Given the description of an element on the screen output the (x, y) to click on. 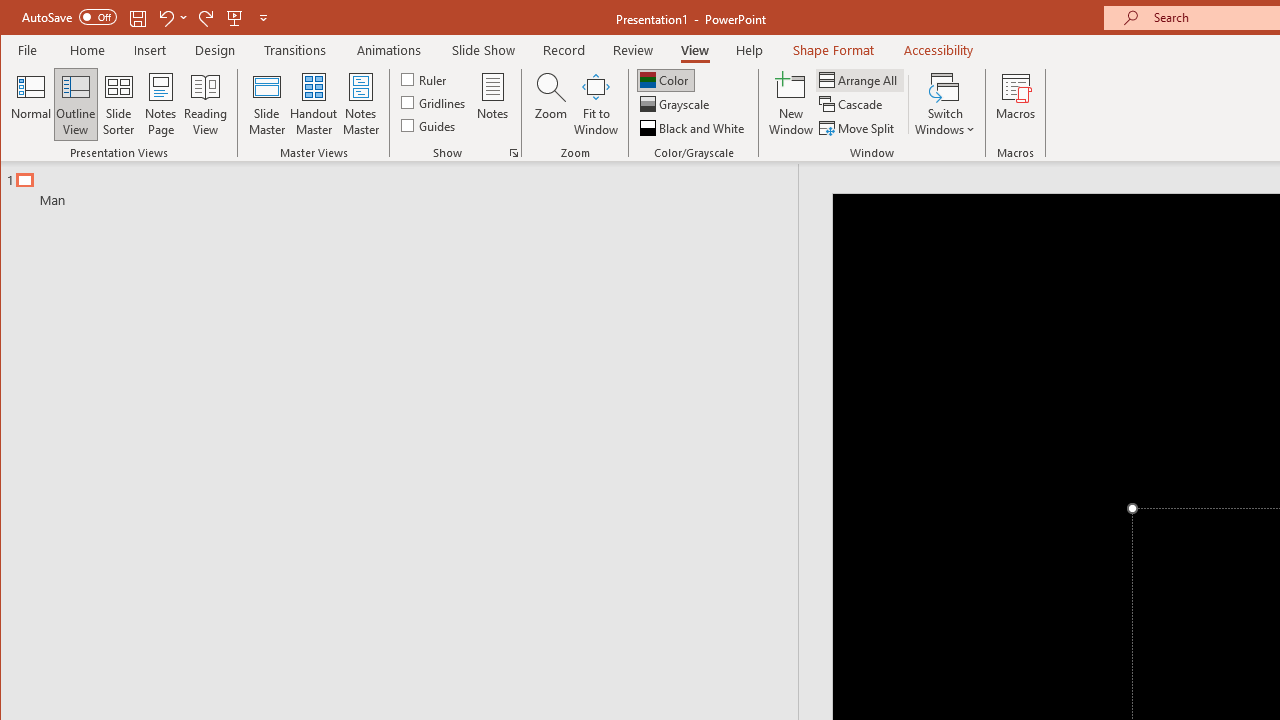
Guides (430, 124)
Handout Master (314, 104)
Grid Settings... (513, 152)
New Window (791, 104)
Gridlines (435, 101)
Fit to Window (596, 104)
Notes Master (360, 104)
